Given the description of an element on the screen output the (x, y) to click on. 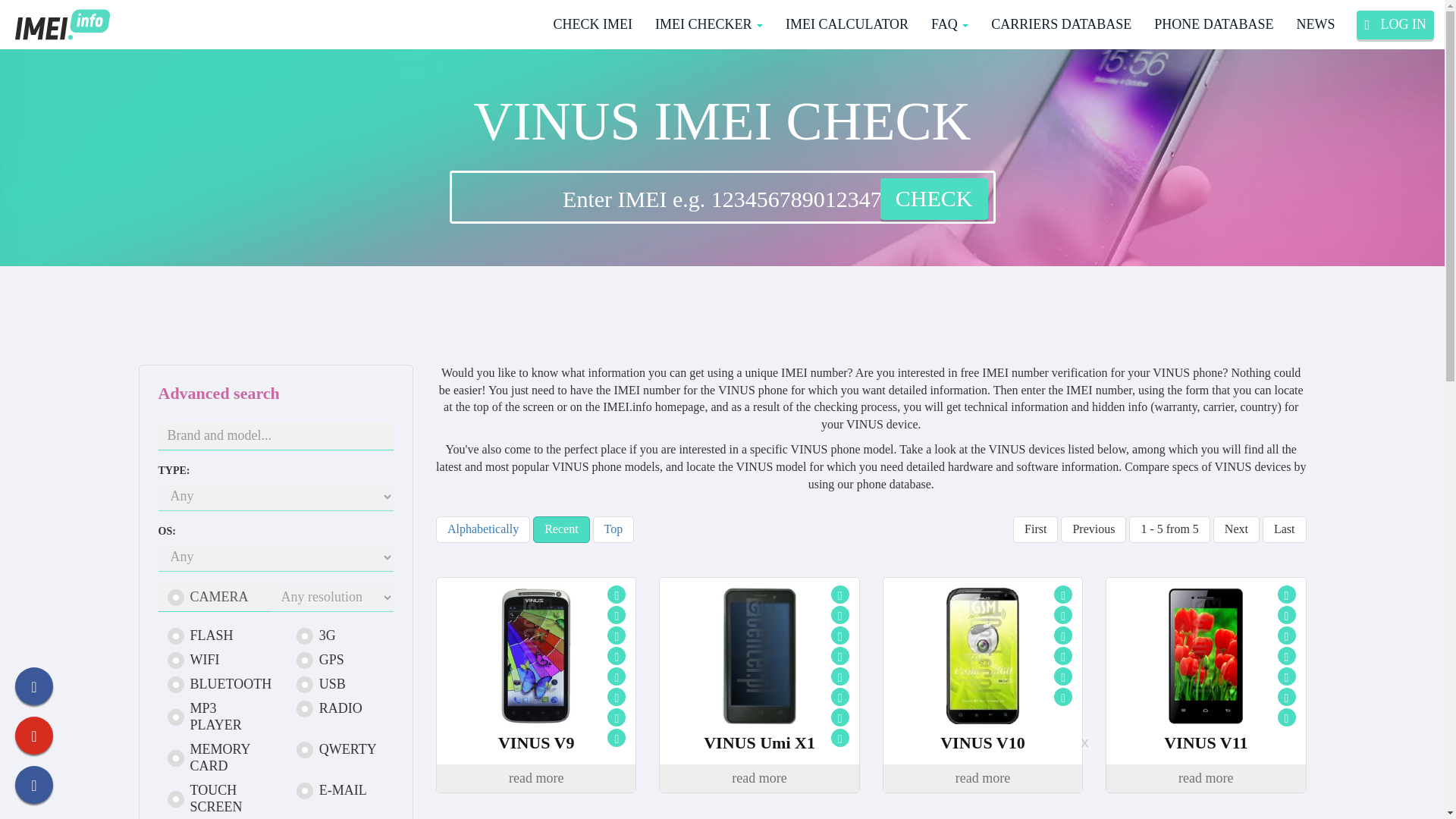
IMEI CHECKER (708, 24)
VINUS V9 (535, 742)
CHECK IMEI (592, 24)
VINUS Umi X1 (759, 742)
FAQ (949, 24)
IMEI CALCULATOR (847, 24)
